Given the description of an element on the screen output the (x, y) to click on. 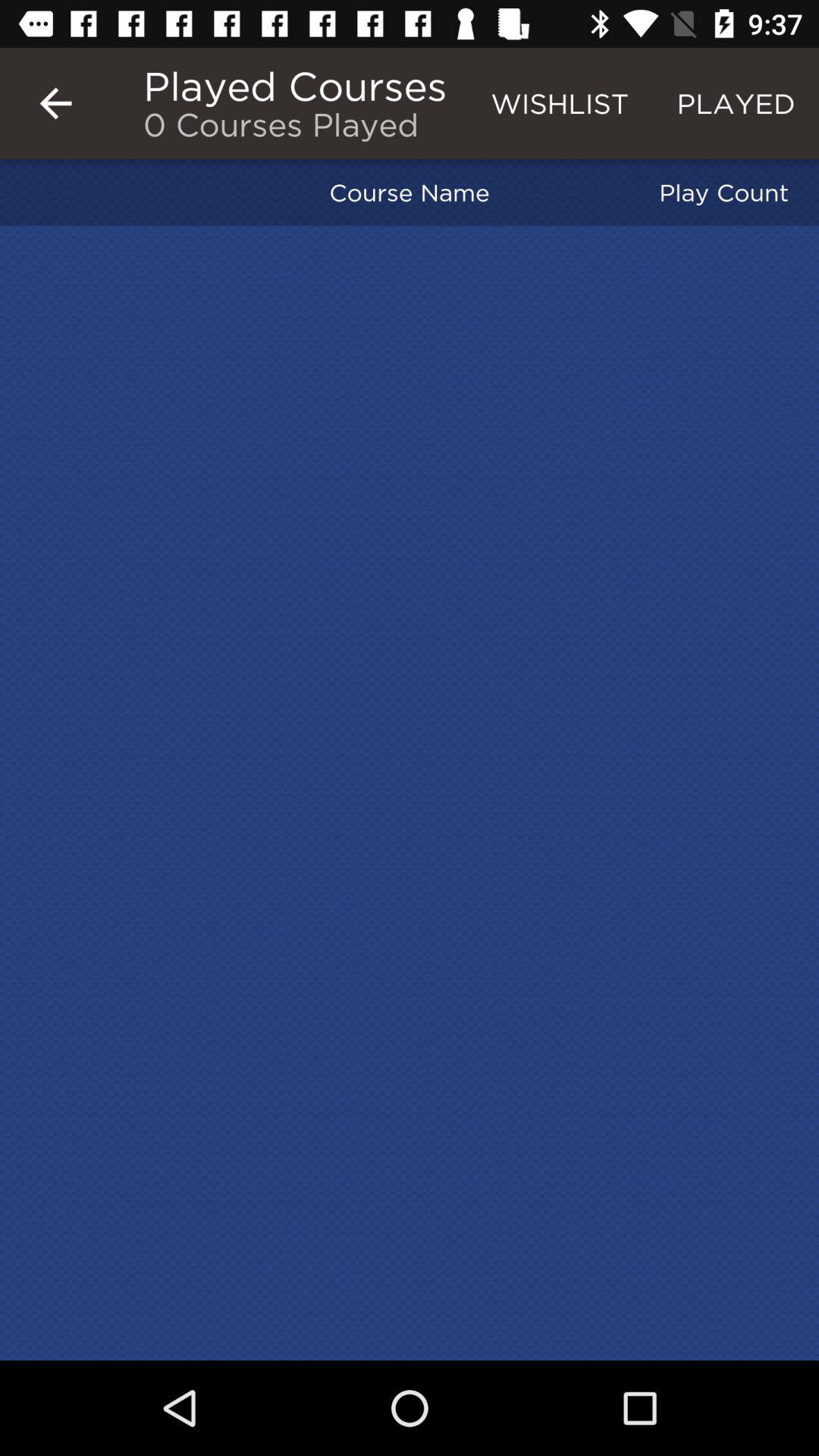
launch item to the right of played courses item (559, 103)
